Given the description of an element on the screen output the (x, y) to click on. 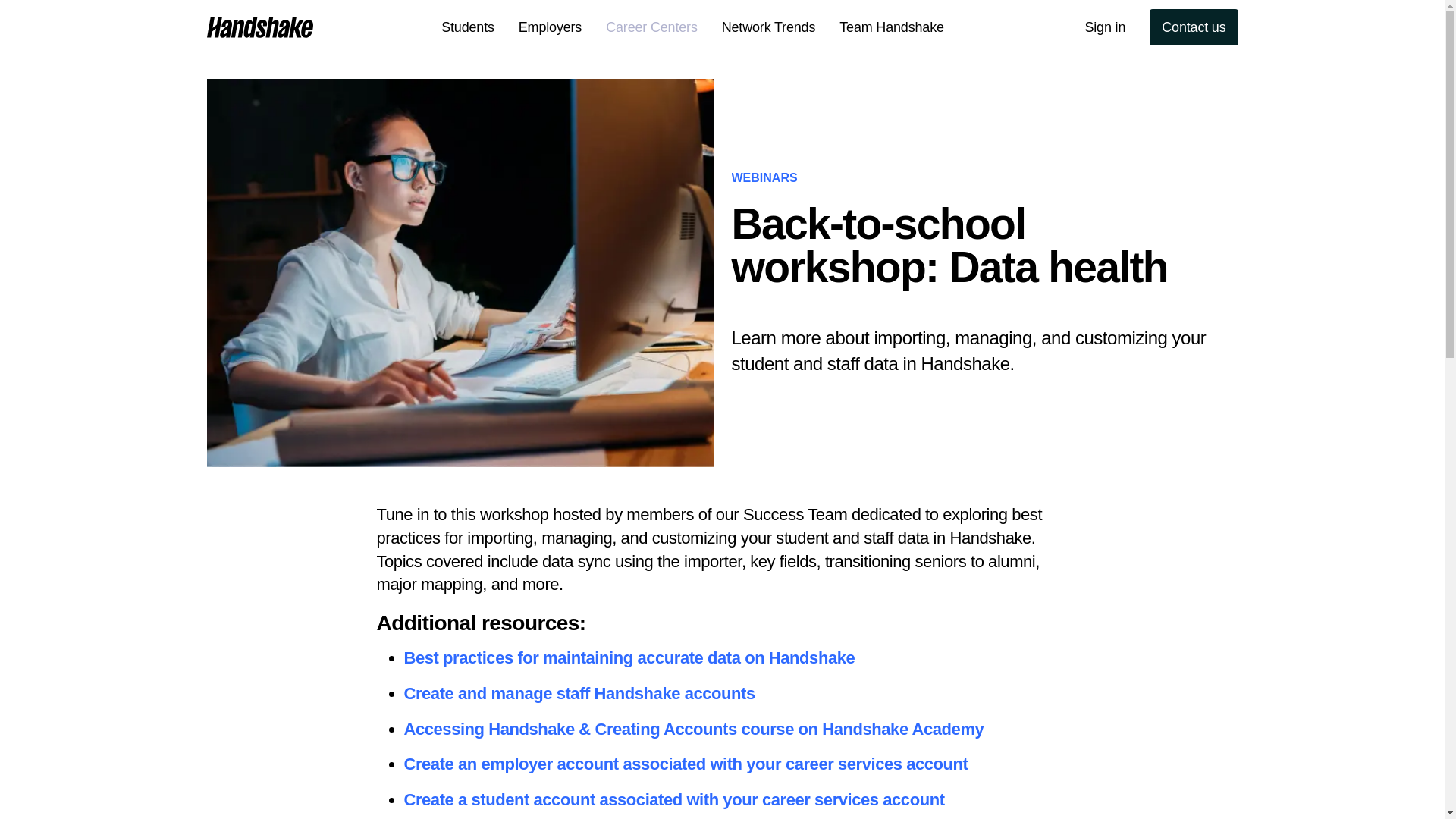
Blog (337, 26)
Create and manage staff Handshake accounts (578, 692)
Career Centers (652, 26)
Sign in (1104, 26)
WEBINARS (763, 177)
Students (467, 26)
Contact us (1193, 27)
Homepage (259, 26)
